Given the description of an element on the screen output the (x, y) to click on. 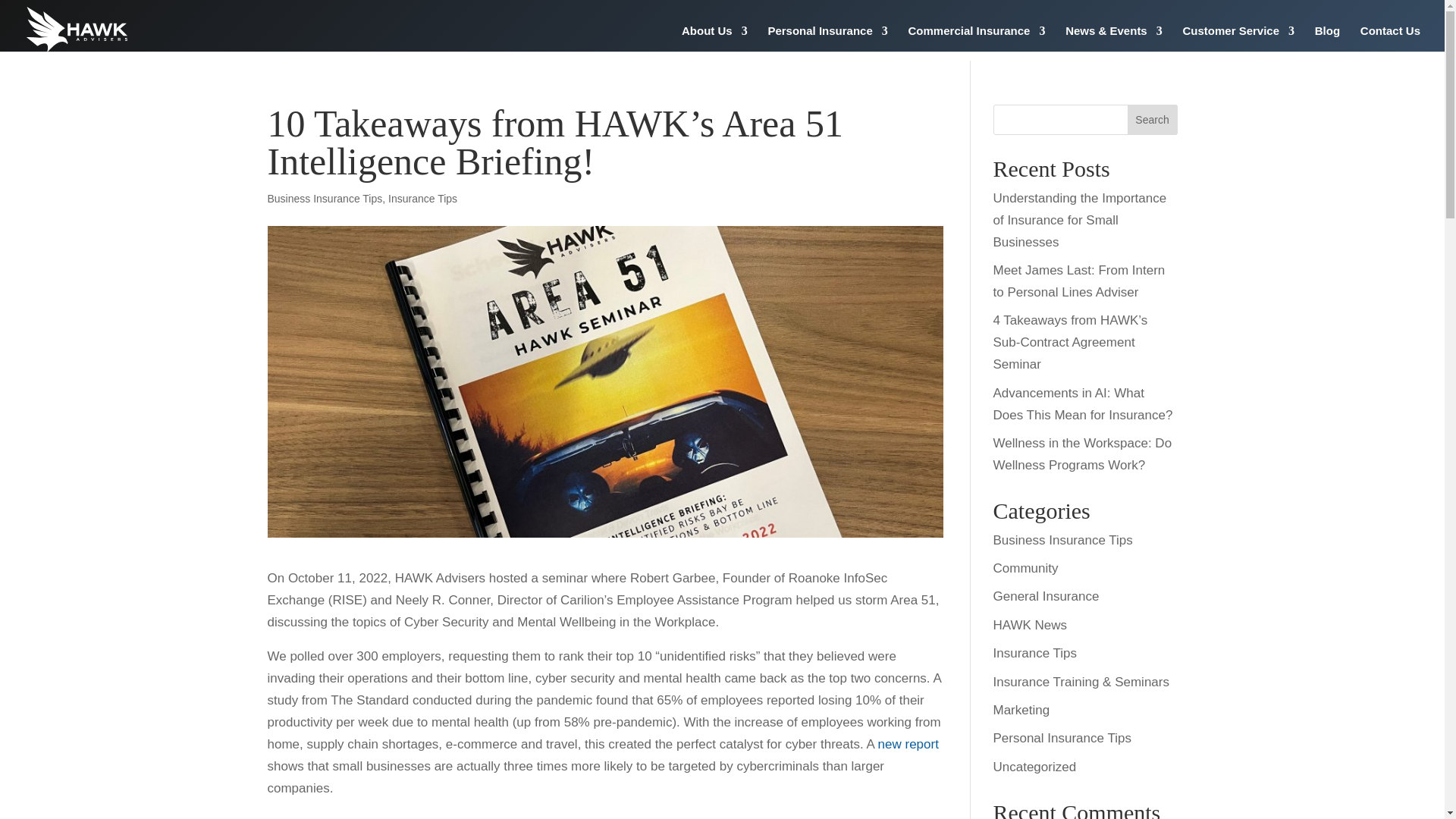
About Us (714, 40)
Search (1151, 119)
Contact Us (1390, 40)
Commercial Insurance (976, 40)
Customer Service (1238, 40)
Personal Insurance (826, 40)
